Given the description of an element on the screen output the (x, y) to click on. 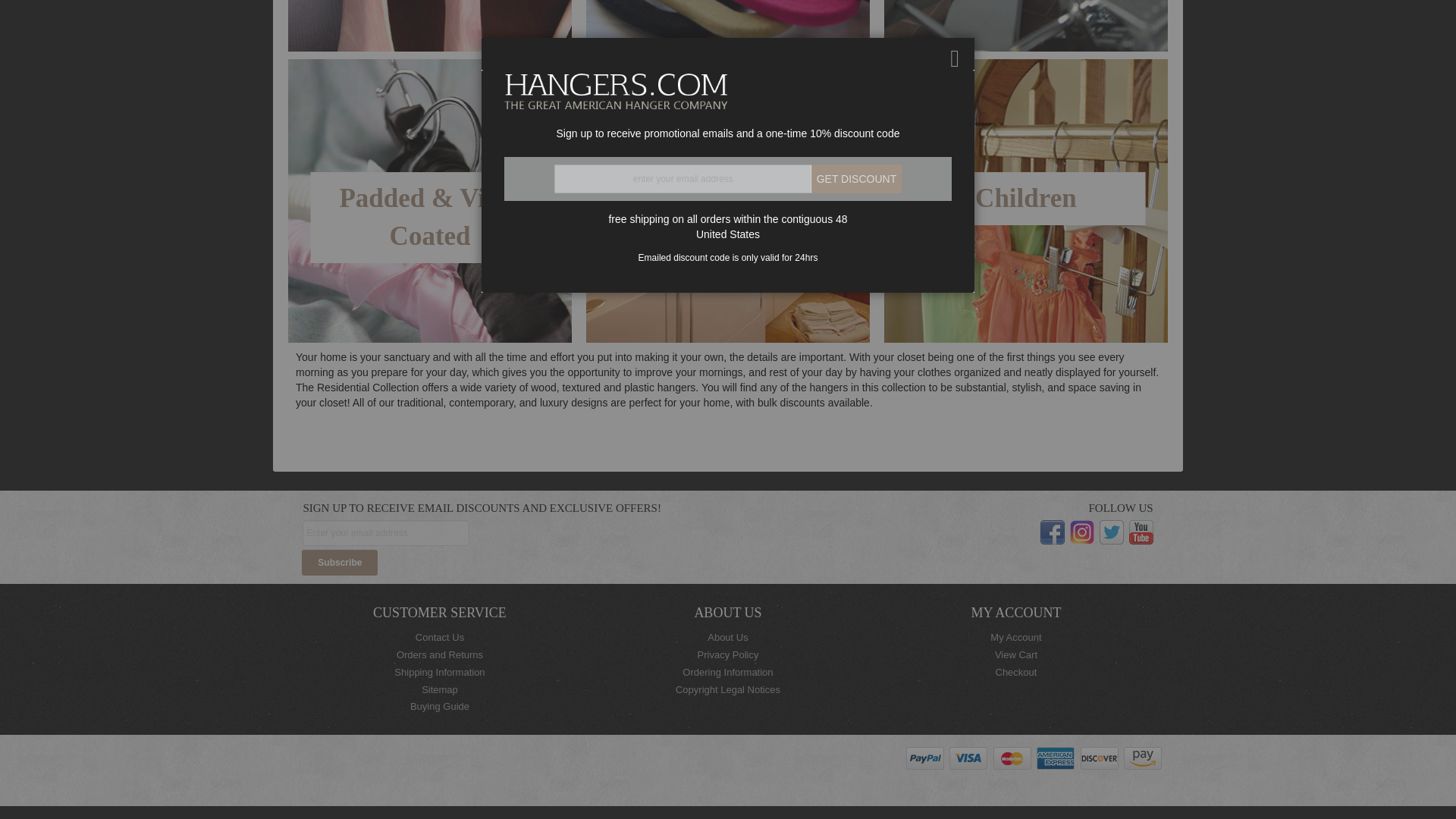
Residential Collections - Environmental (430, 25)
Residential Collections - Velvet (727, 25)
